Given the description of an element on the screen output the (x, y) to click on. 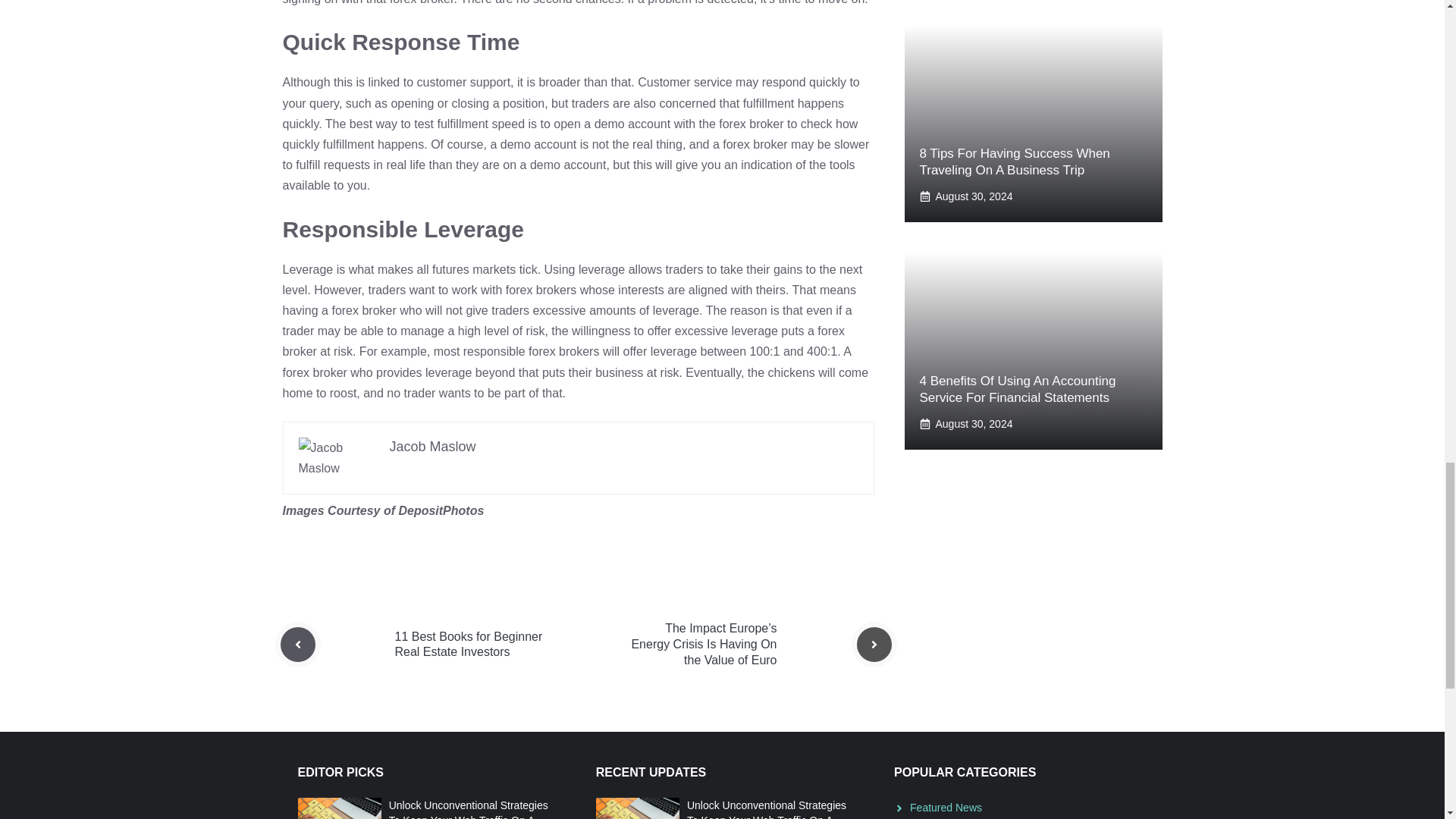
11 Best Books for Beginner Real Estate Investors (467, 644)
Jacob Maslow (433, 446)
DepositPhotos (440, 510)
8 Tips For Having Success When Traveling On A Business Trip (1013, 161)
